Given the description of an element on the screen output the (x, y) to click on. 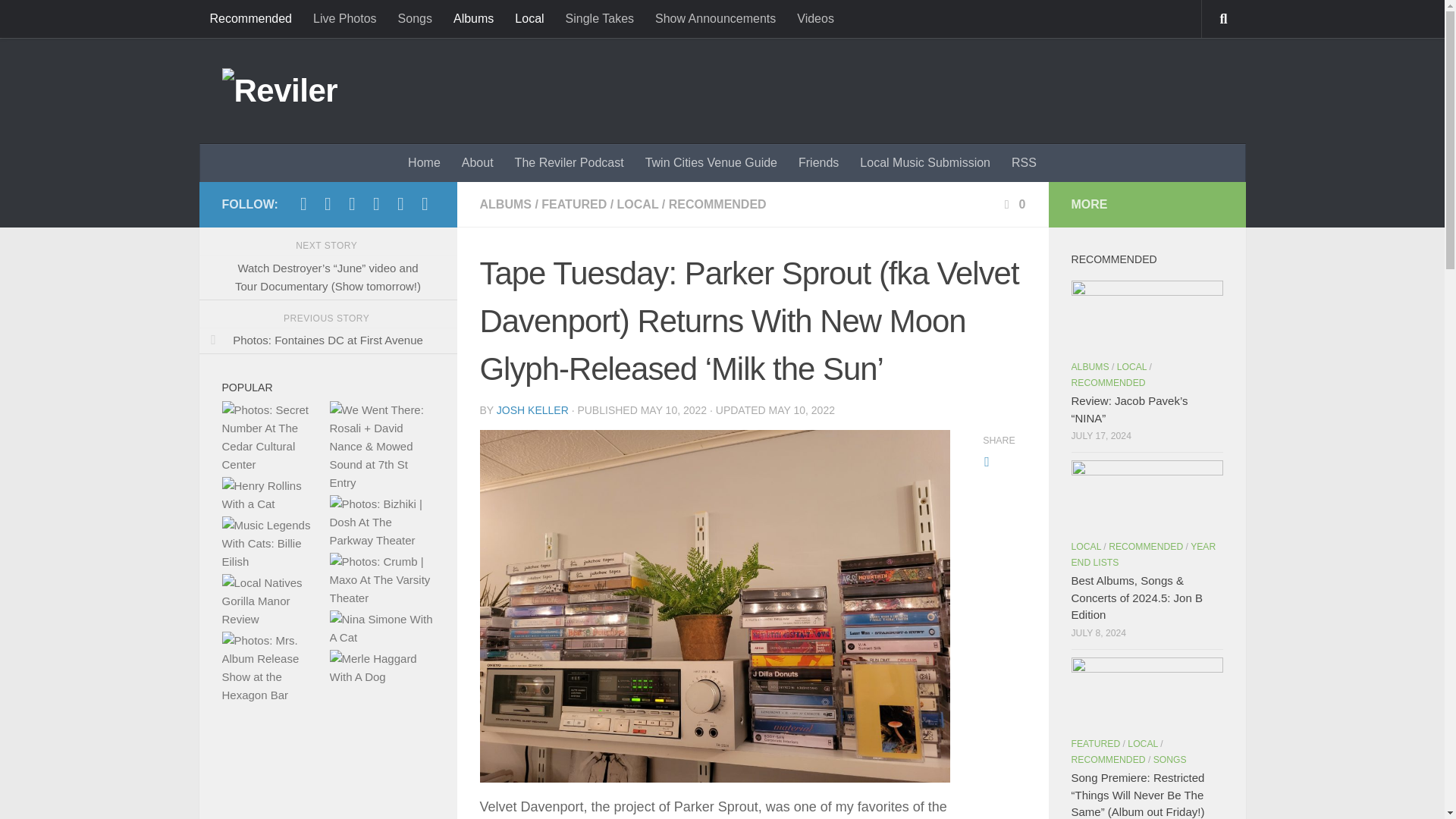
RECOMMENDED (717, 204)
Local (528, 18)
About (477, 162)
Show Announcements (715, 18)
Skip to content (63, 20)
ALBUMS (505, 204)
Albums (472, 18)
Recommended (250, 18)
JOSH KELLER (532, 410)
Local Music Submission (924, 162)
LOCAL (638, 204)
FEATURED (574, 204)
Songs (414, 18)
Videos (815, 18)
0 (1013, 204)
